Given the description of an element on the screen output the (x, y) to click on. 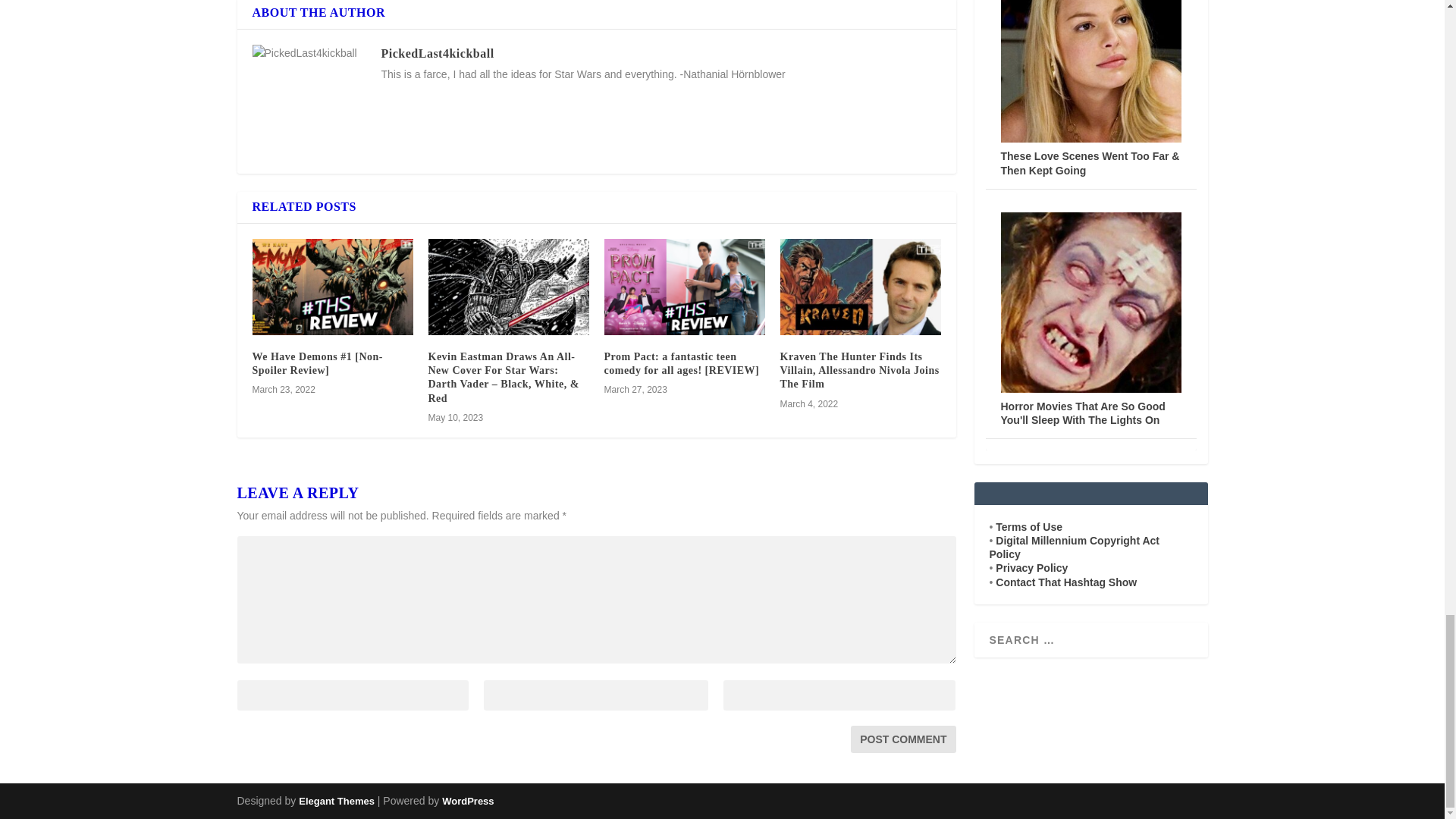
Post Comment (902, 738)
